Given the description of an element on the screen output the (x, y) to click on. 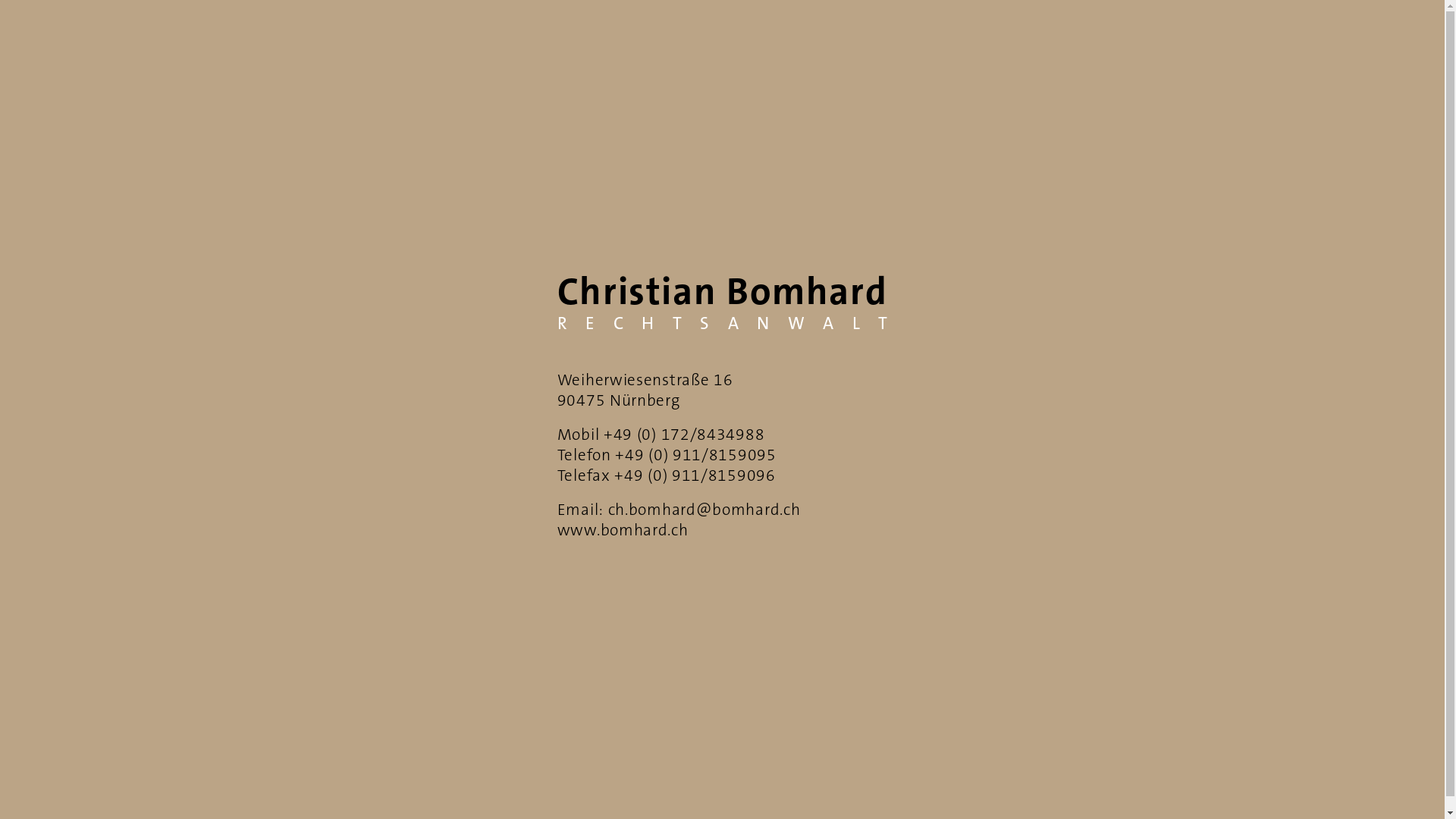
www.bomhard.ch Element type: text (622, 531)
ch.bomhard@bomhard.ch Element type: text (704, 510)
+49 (0) 172/8434988 Element type: text (683, 435)
+49 (0) 911/8159095 Element type: text (695, 456)
+49 (0) 911/8159096 Element type: text (694, 476)
